Given the description of an element on the screen output the (x, y) to click on. 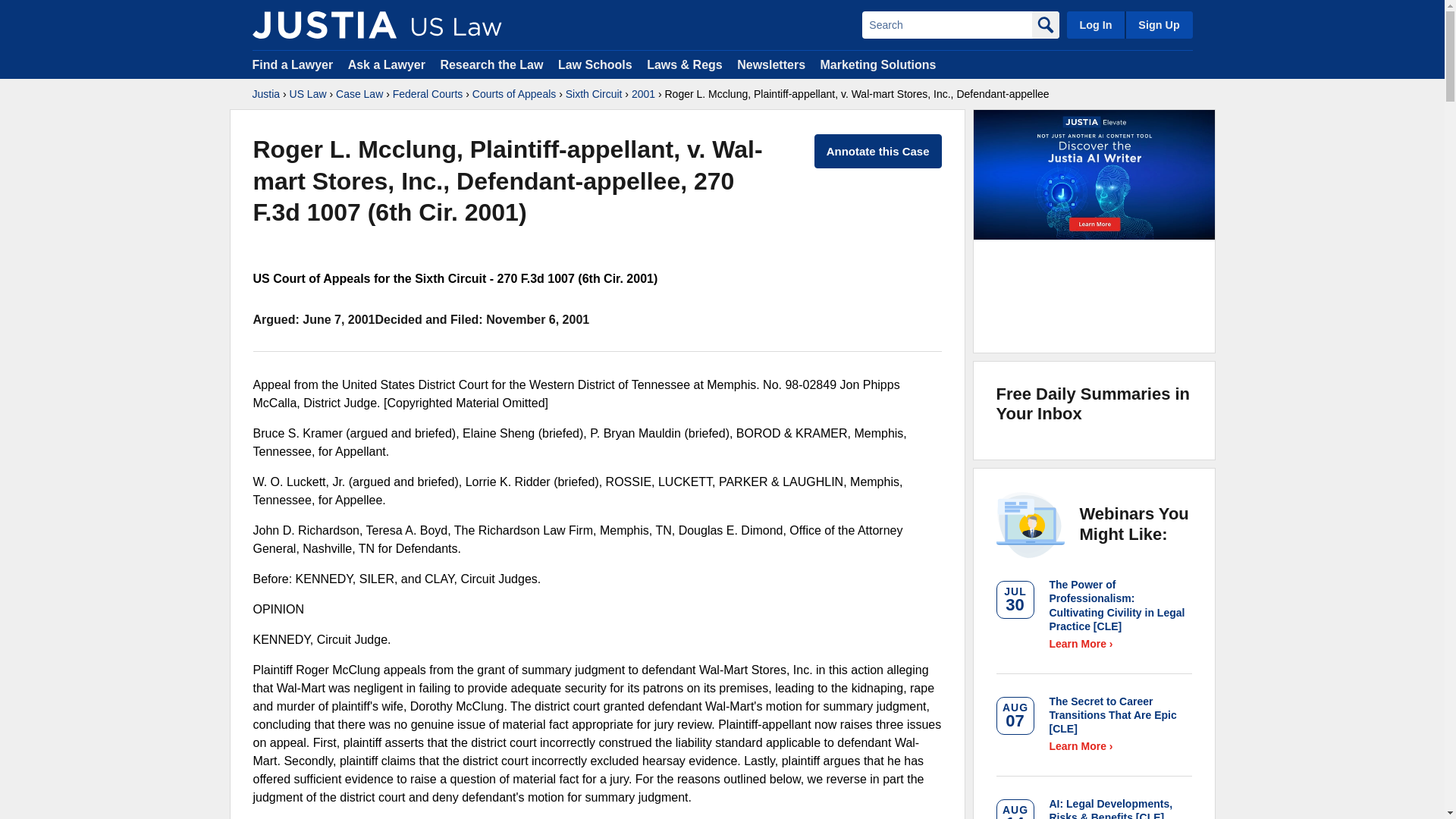
Newsletters (770, 64)
US Law (307, 93)
Sixth Circuit (594, 93)
Courts of Appeals (513, 93)
Law Schools (594, 64)
Research the Law (491, 64)
Ask a Lawyer (388, 64)
Marketing Solutions (877, 64)
Case Law (359, 93)
Find a Lawyer (292, 64)
Search (945, 24)
Annotate this Case (877, 151)
Log In (1094, 24)
Sign Up (1158, 24)
Justia (265, 93)
